Given the description of an element on the screen output the (x, y) to click on. 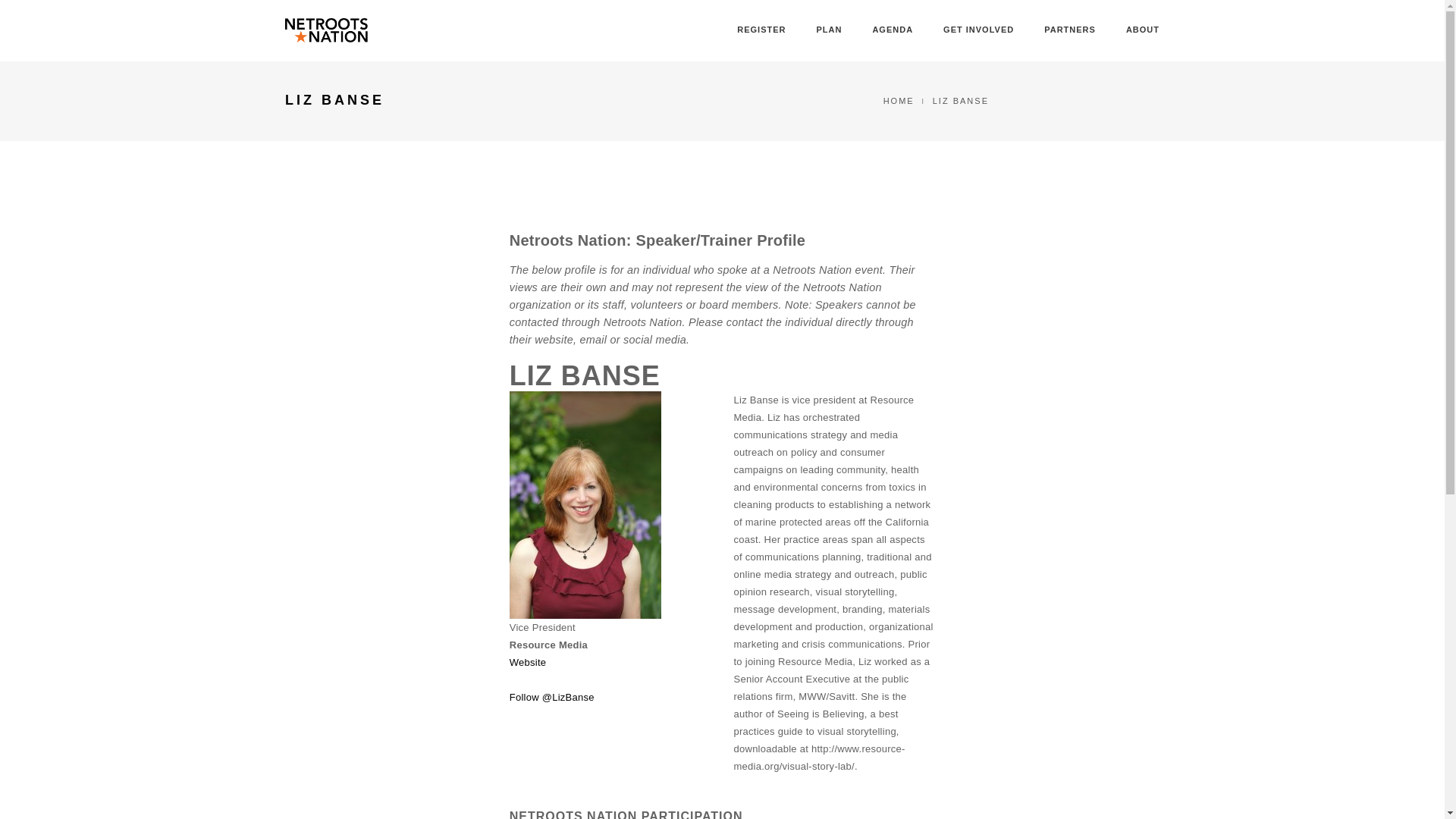
GET INVOLVED (978, 29)
PARTNERS (1069, 29)
AGENDA (892, 29)
PLAN (828, 29)
Browse to: Home (898, 100)
ABOUT (1141, 29)
REGISTER (761, 29)
